Given the description of an element on the screen output the (x, y) to click on. 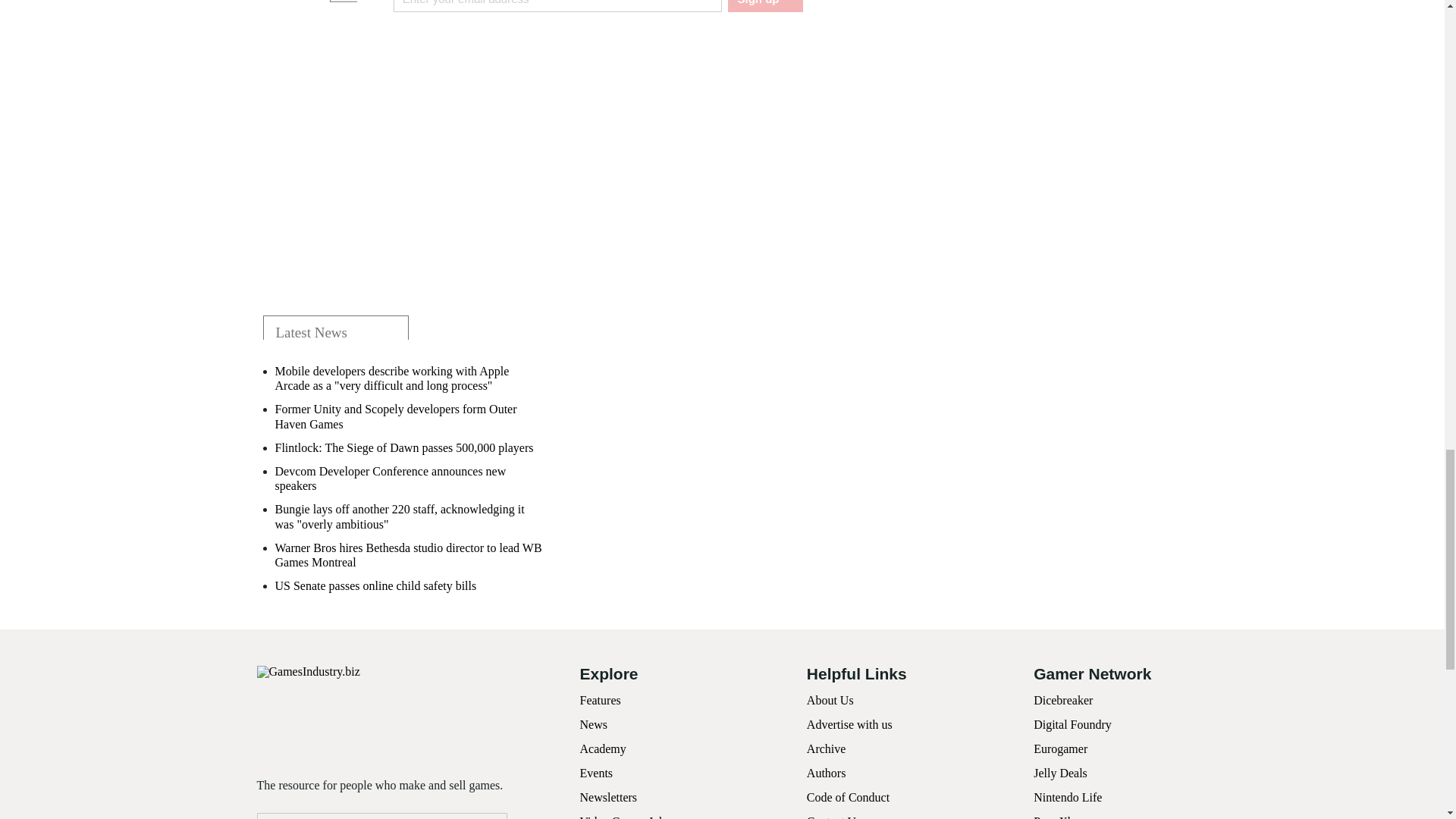
Academy (602, 748)
About Us (829, 699)
Video Games Jobs (624, 816)
Sign up (765, 6)
Features (599, 699)
US Senate passes online child safety bills (375, 585)
Flintlock: The Siege of Dawn passes 500,000 players (403, 447)
News (593, 724)
Newsletters (608, 797)
Events (595, 772)
Advertise with us (849, 724)
Former Unity and Scopely developers form Outer Haven Games (409, 416)
